Given the description of an element on the screen output the (x, y) to click on. 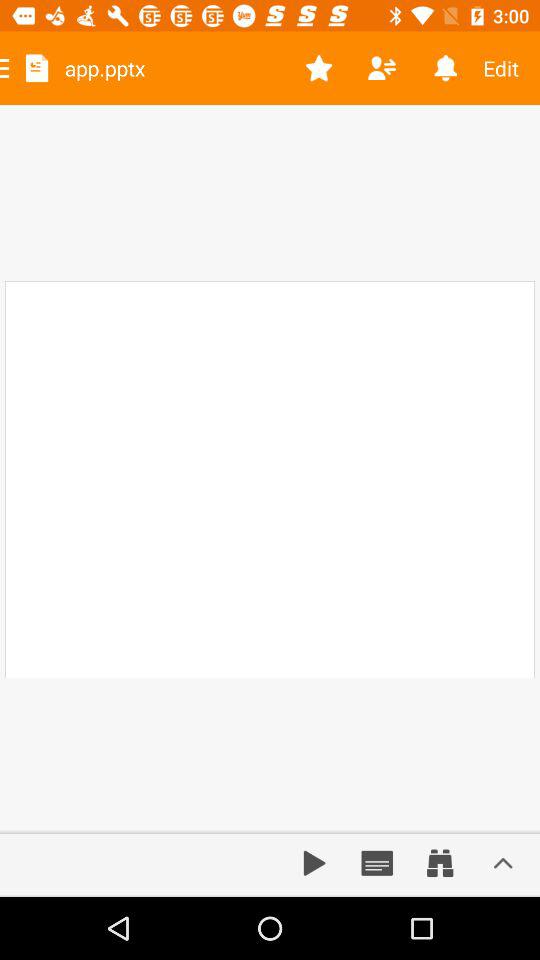
go to next (314, 863)
